Given the description of an element on the screen output the (x, y) to click on. 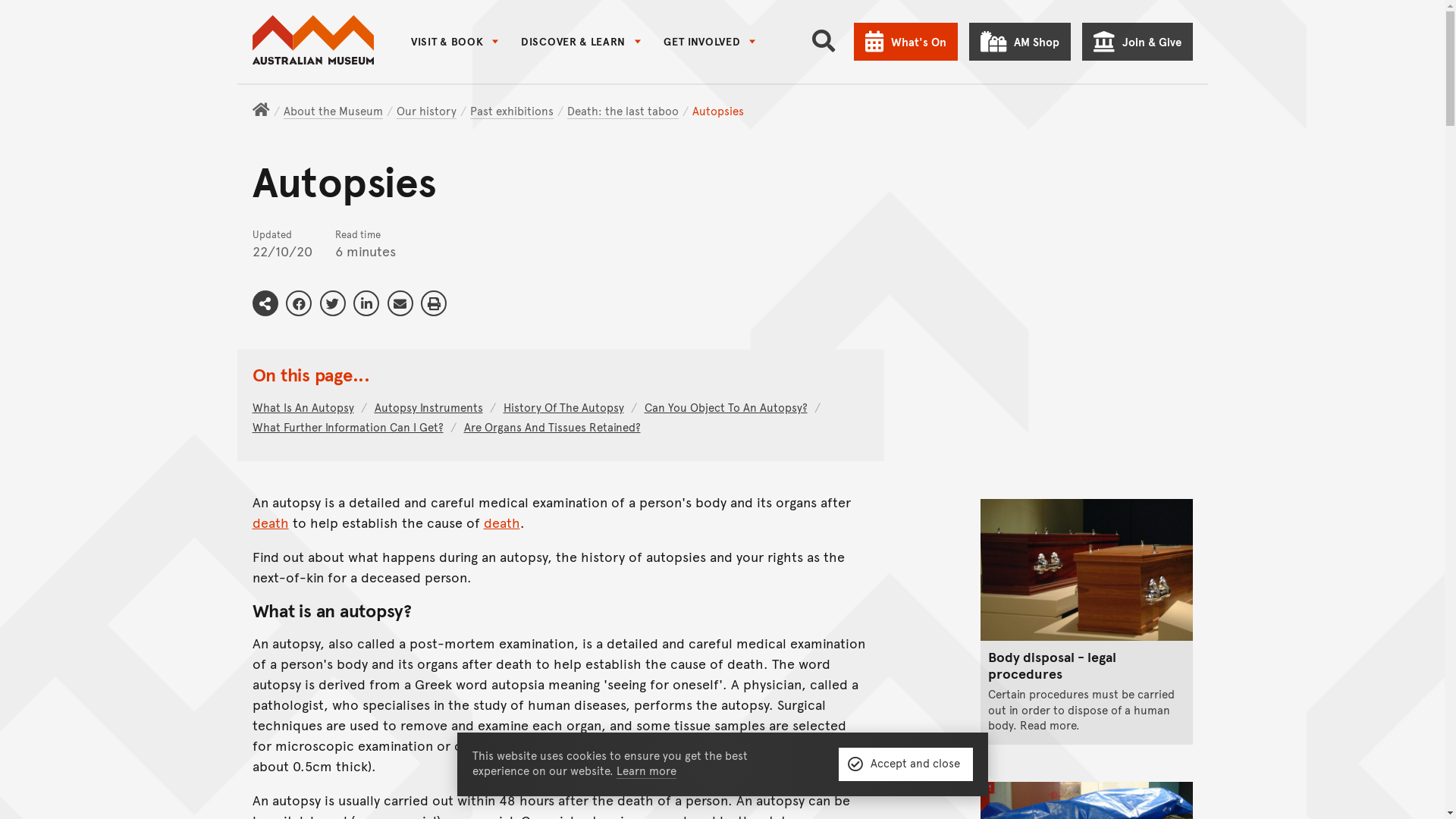
Learn more Element type: text (651, 770)
Can You Object To An Autopsy? Element type: text (730, 406)
What Is An Autopsy Element type: text (308, 406)
What's On Element type: text (911, 41)
Skip to footer Element type: text (728, 49)
death Element type: text (507, 521)
Share on Linkedin Element type: text (372, 303)
Welcome to the Australian Museum website Element type: text (318, 40)
Are Organs And Tissues Retained? Element type: text (557, 426)
History Of The Autopsy Element type: text (568, 406)
AM Shop Element type: text (1025, 41)
Skip to acknowledgement of country Element type: text (728, 31)
Skip to main content Element type: text (728, 15)
Search Element type: text (828, 41)
About the Museum Element type: text (338, 110)
Share on Twitter Element type: text (338, 303)
GET INVOLVED
DROPDOWN MENU Element type: text (714, 41)
Homepage Element type: text (266, 110)
Join & Give Element type: text (1142, 41)
Death: the last taboo Element type: text (628, 110)
Share on Facebook Element type: text (303, 303)
Print this page Element type: text (438, 303)
Share via Email Element type: text (405, 303)
What Further Information Can I Get? Element type: text (352, 426)
Our history Element type: text (431, 110)
VISIT & BOOK
DROPDOWN MENU Element type: text (459, 41)
Autopsy Instruments Element type: text (433, 406)
Past exhibitions Element type: text (516, 110)
death Element type: text (275, 521)
DISCOVER & LEARN
DROPDOWN MENU Element type: text (586, 41)
Accept and close Element type: text (911, 764)
